Given the description of an element on the screen output the (x, y) to click on. 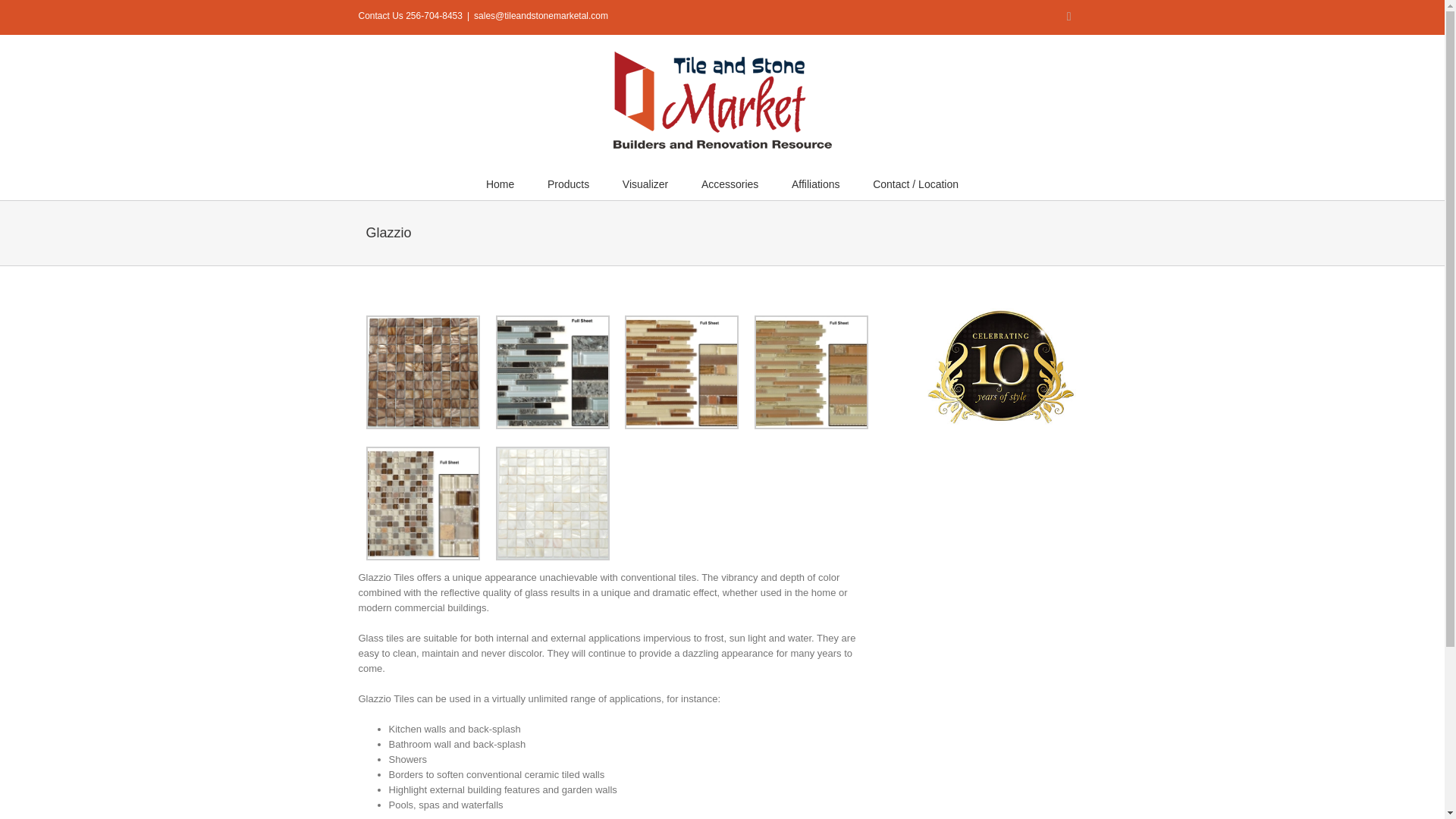
Affiliations (816, 183)
Visualizer (645, 183)
Accessories (729, 183)
Products (568, 183)
